Given the description of an element on the screen output the (x, y) to click on. 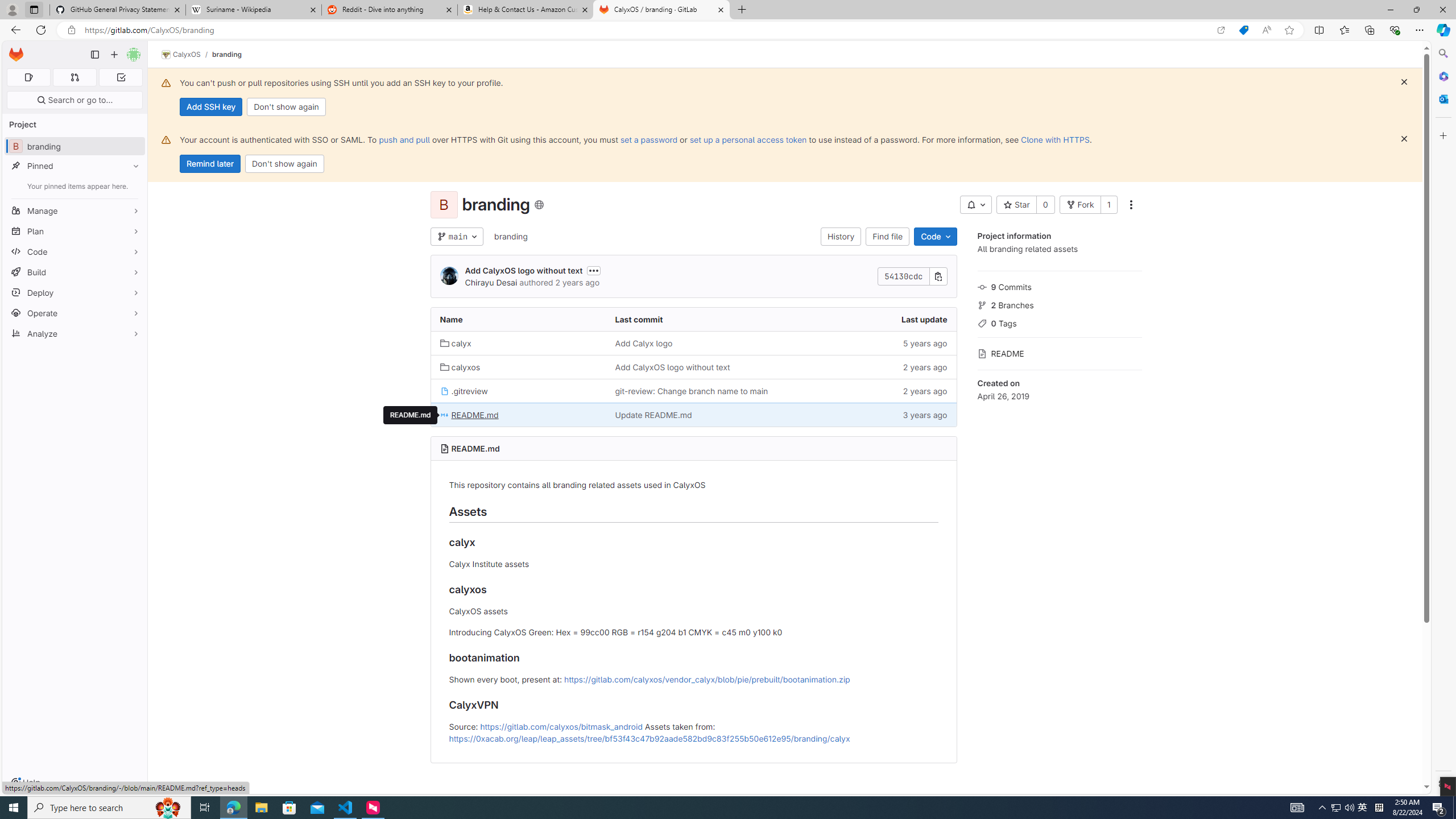
Open in app (1220, 29)
0 Tags (1058, 322)
 Star (1015, 204)
set up a personal access token (747, 139)
Pinned (74, 165)
Manage (74, 210)
1 (1108, 204)
Class: s16 icon (538, 204)
Merge requests 0 (74, 76)
README.md (410, 414)
0 (1045, 204)
.gitreview (517, 390)
Help (25, 782)
CalyxOS (180, 54)
